Given the description of an element on the screen output the (x, y) to click on. 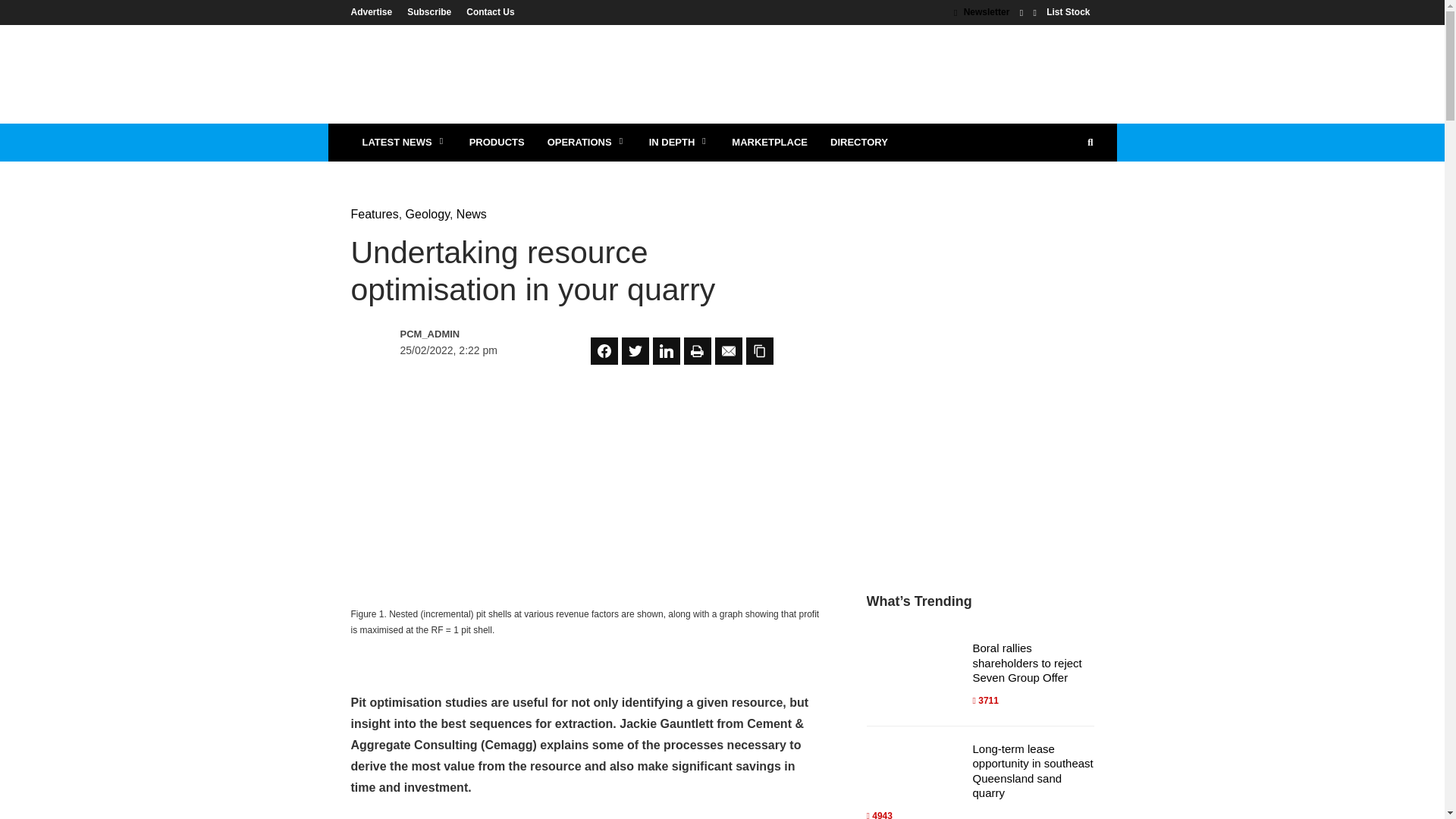
Subscribe (428, 11)
PRODUCTS (496, 142)
List Stock (1067, 11)
Share on Facebook (604, 350)
Advertise (374, 11)
Share on Twitter (635, 350)
Share on Print (697, 350)
OPERATIONS (586, 142)
Share on Copy Link (759, 350)
Contact Us (485, 11)
MARKETPLACE (769, 142)
IN DEPTH (678, 142)
View Boral rallies shareholders to reject Seven Group Offer (1026, 662)
Features (373, 214)
LATEST NEWS (403, 142)
